Given the description of an element on the screen output the (x, y) to click on. 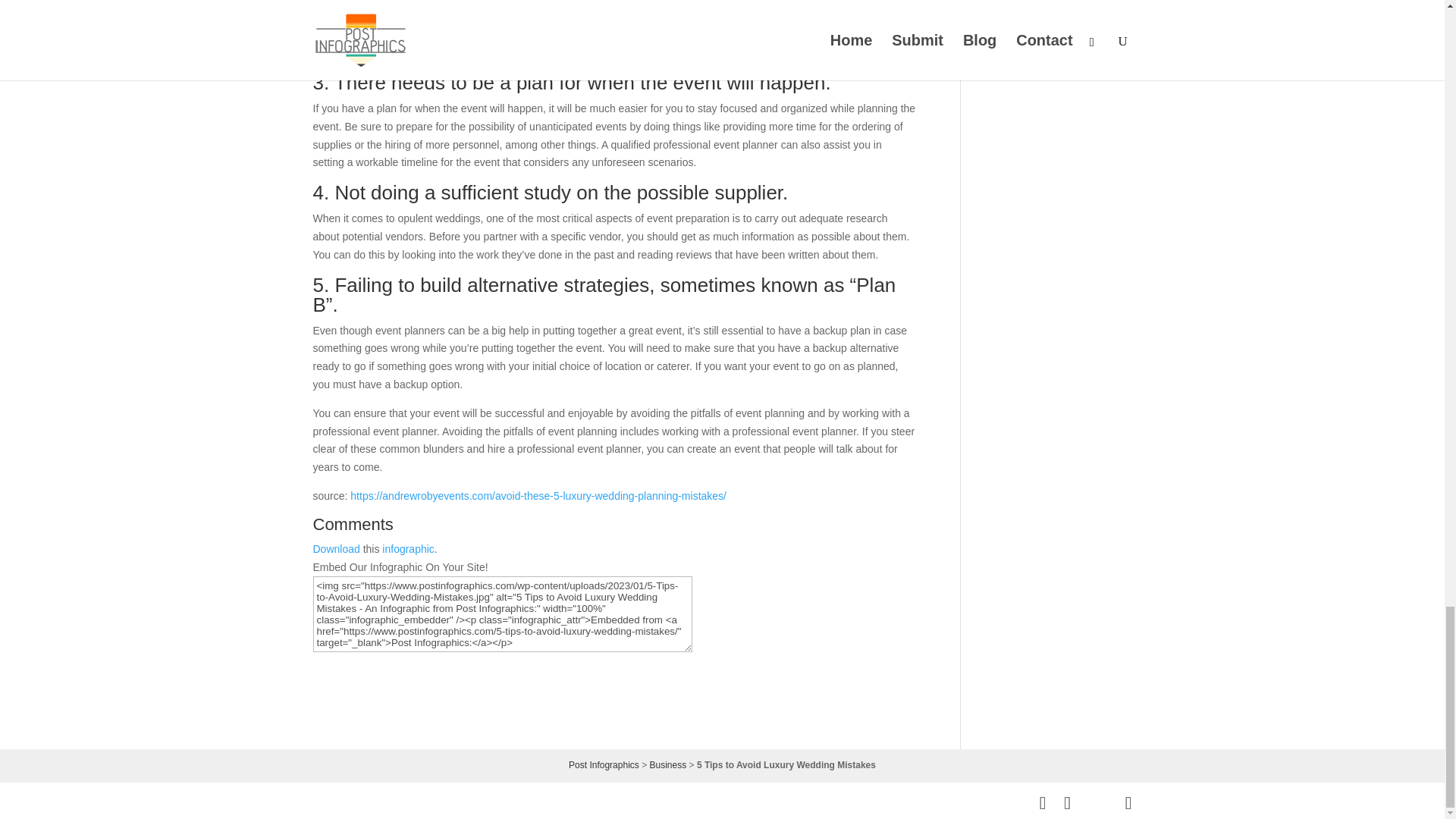
infographic (407, 548)
100 (401, 584)
infographic (407, 548)
Download (336, 548)
